Given the description of an element on the screen output the (x, y) to click on. 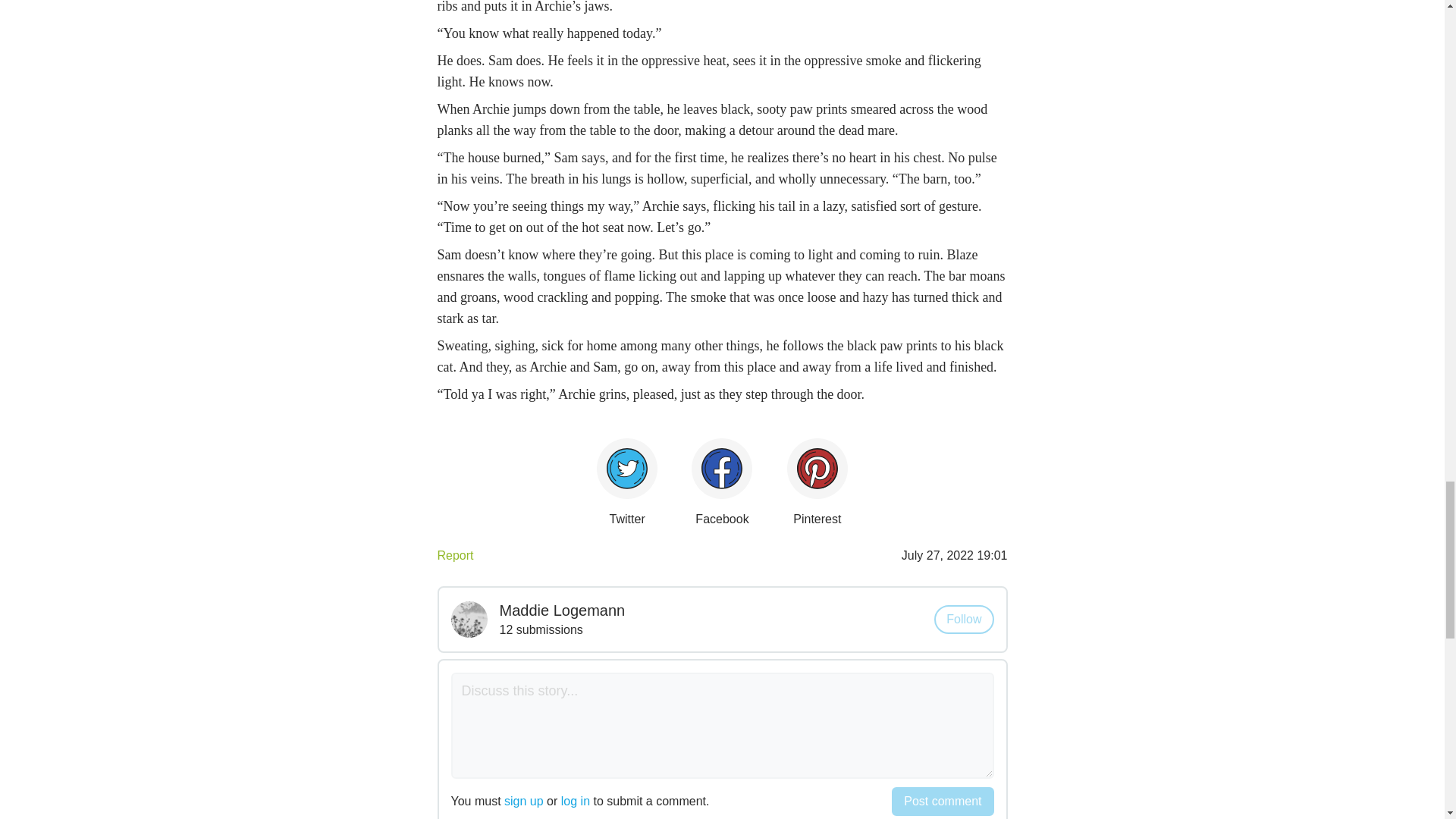
Post comment (941, 801)
